Given the description of an element on the screen output the (x, y) to click on. 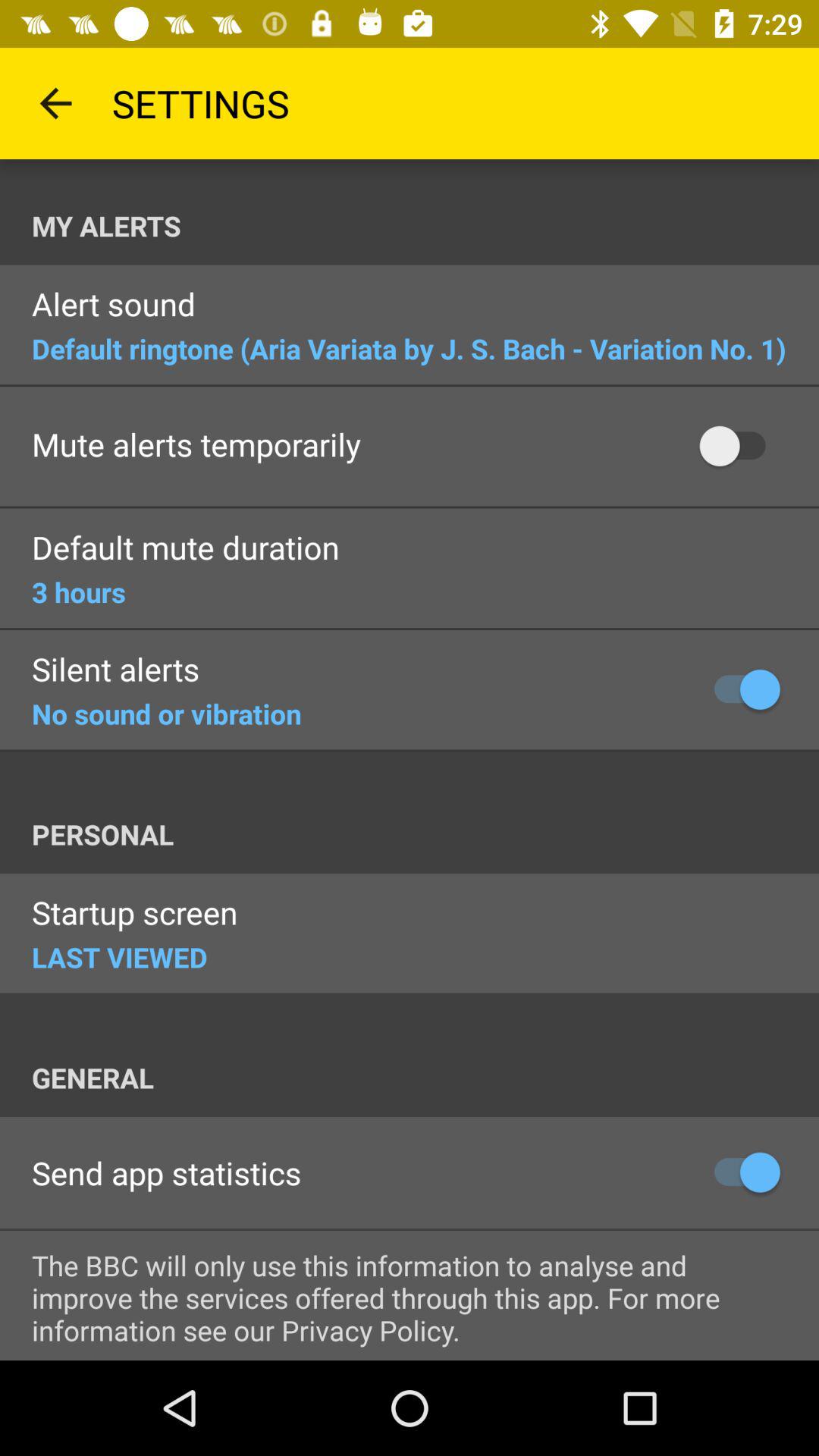
press item above the alert sound item (425, 225)
